Given the description of an element on the screen output the (x, y) to click on. 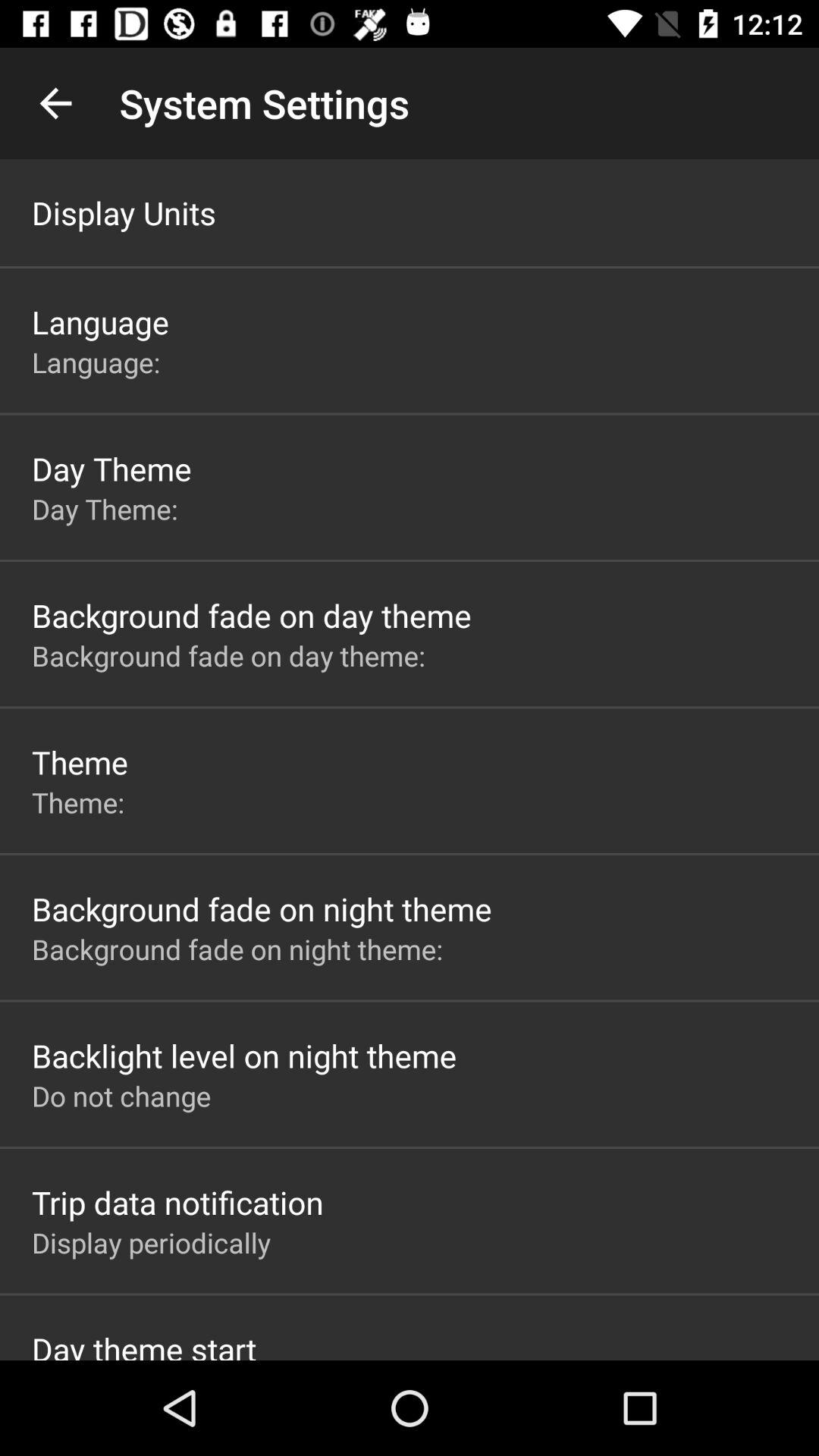
tap the icon above display units icon (55, 103)
